Given the description of an element on the screen output the (x, y) to click on. 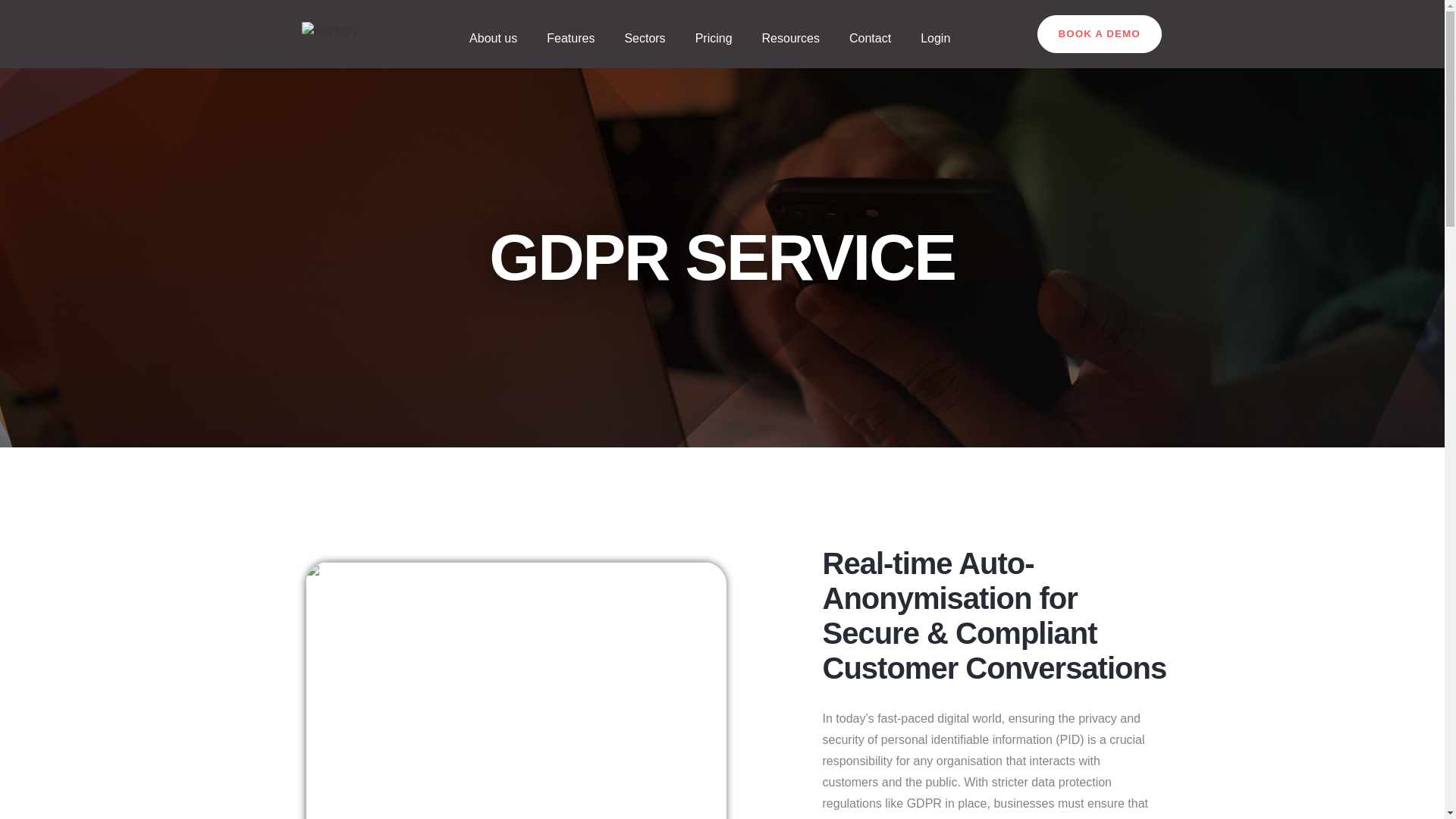
Features (570, 37)
About us (492, 37)
